Given the description of an element on the screen output the (x, y) to click on. 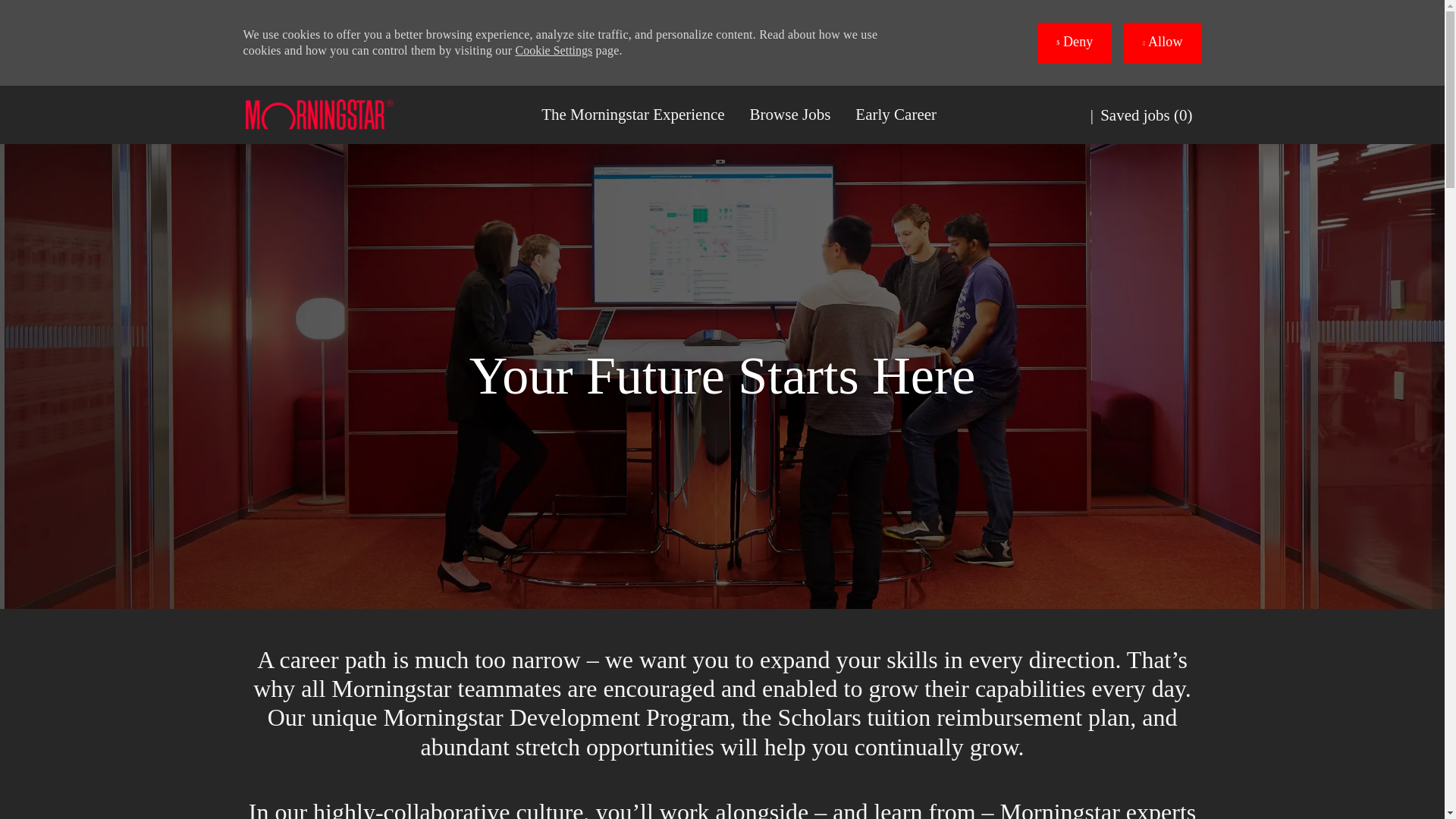
Allow (1162, 42)
Browse Jobs (790, 114)
Deny (1074, 42)
The Morningstar Experience (632, 114)
Cookie Settings (553, 50)
Early Career (896, 114)
